Given the description of an element on the screen output the (x, y) to click on. 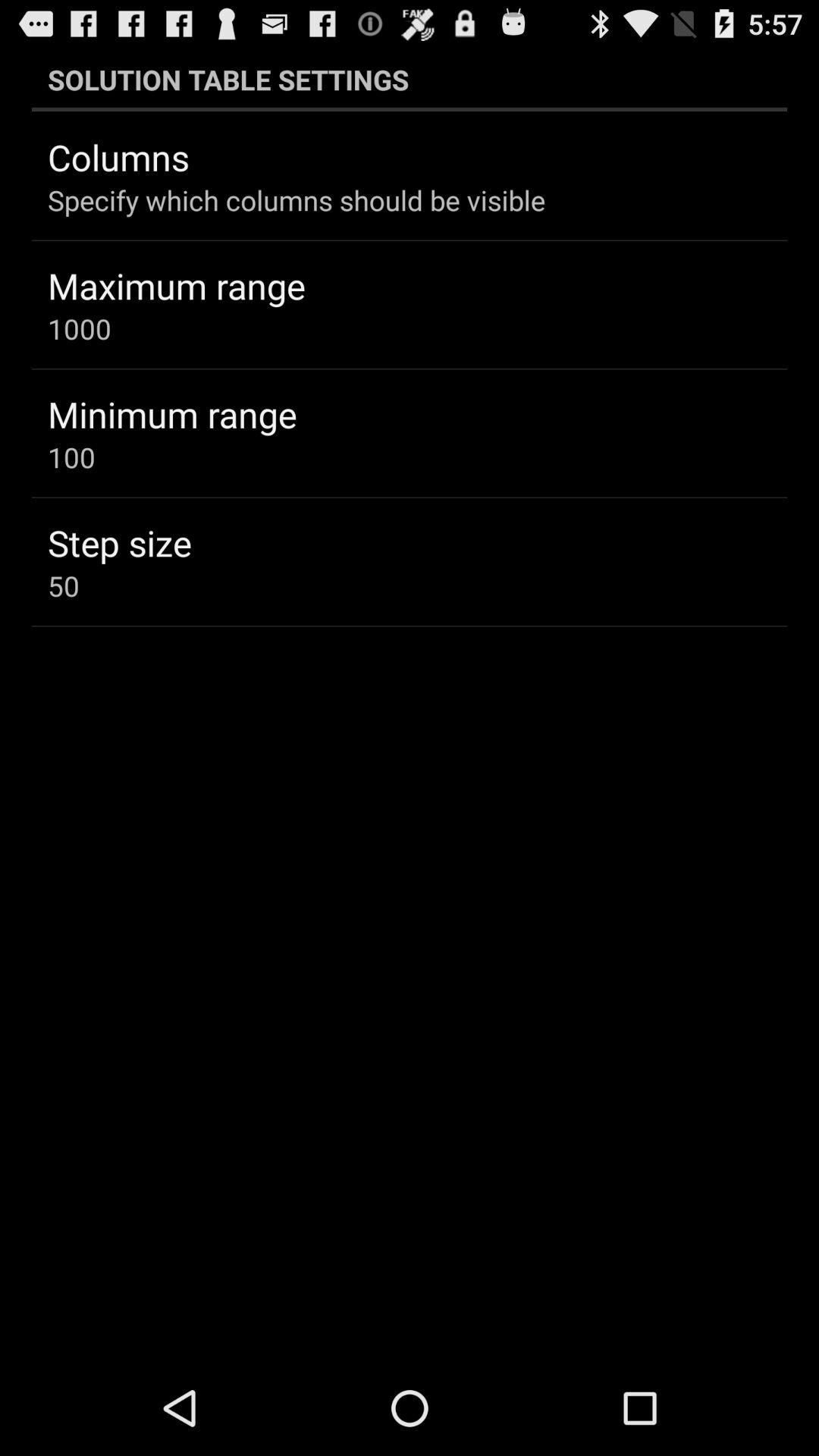
click the app below the maximum range icon (79, 328)
